Given the description of an element on the screen output the (x, y) to click on. 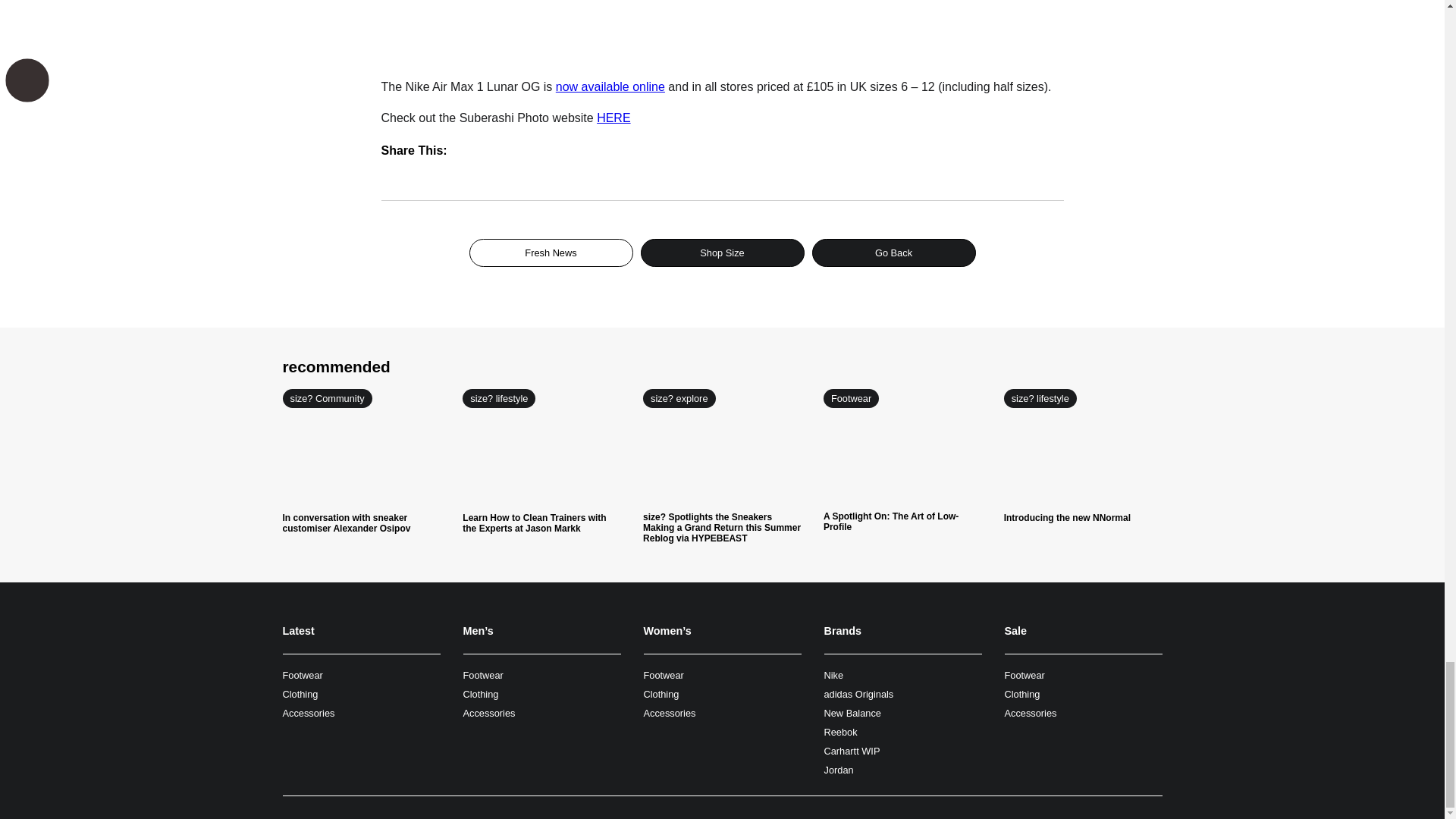
now available online (610, 86)
